Given the description of an element on the screen output the (x, y) to click on. 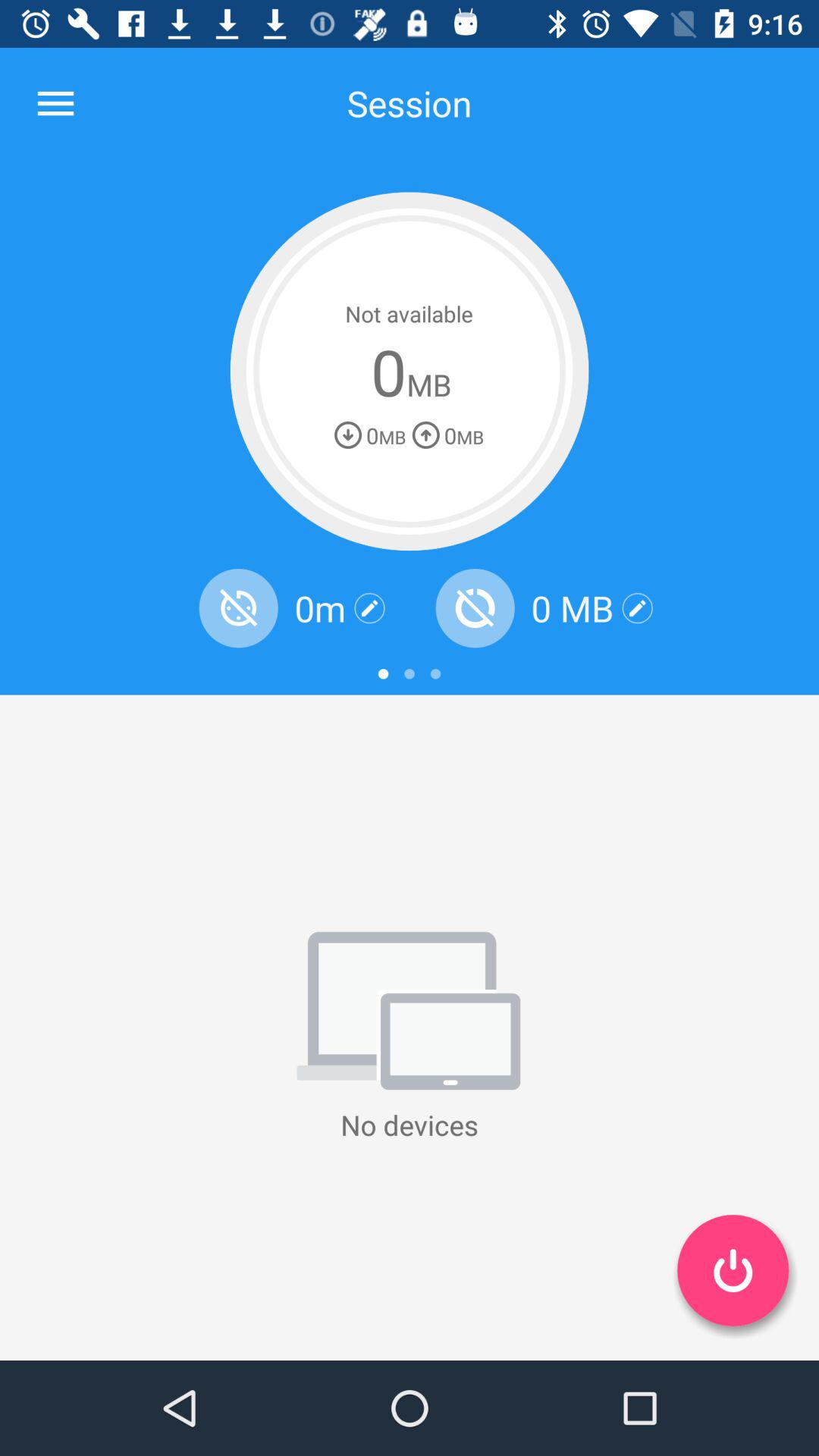
shut down option (733, 1270)
